Given the description of an element on the screen output the (x, y) to click on. 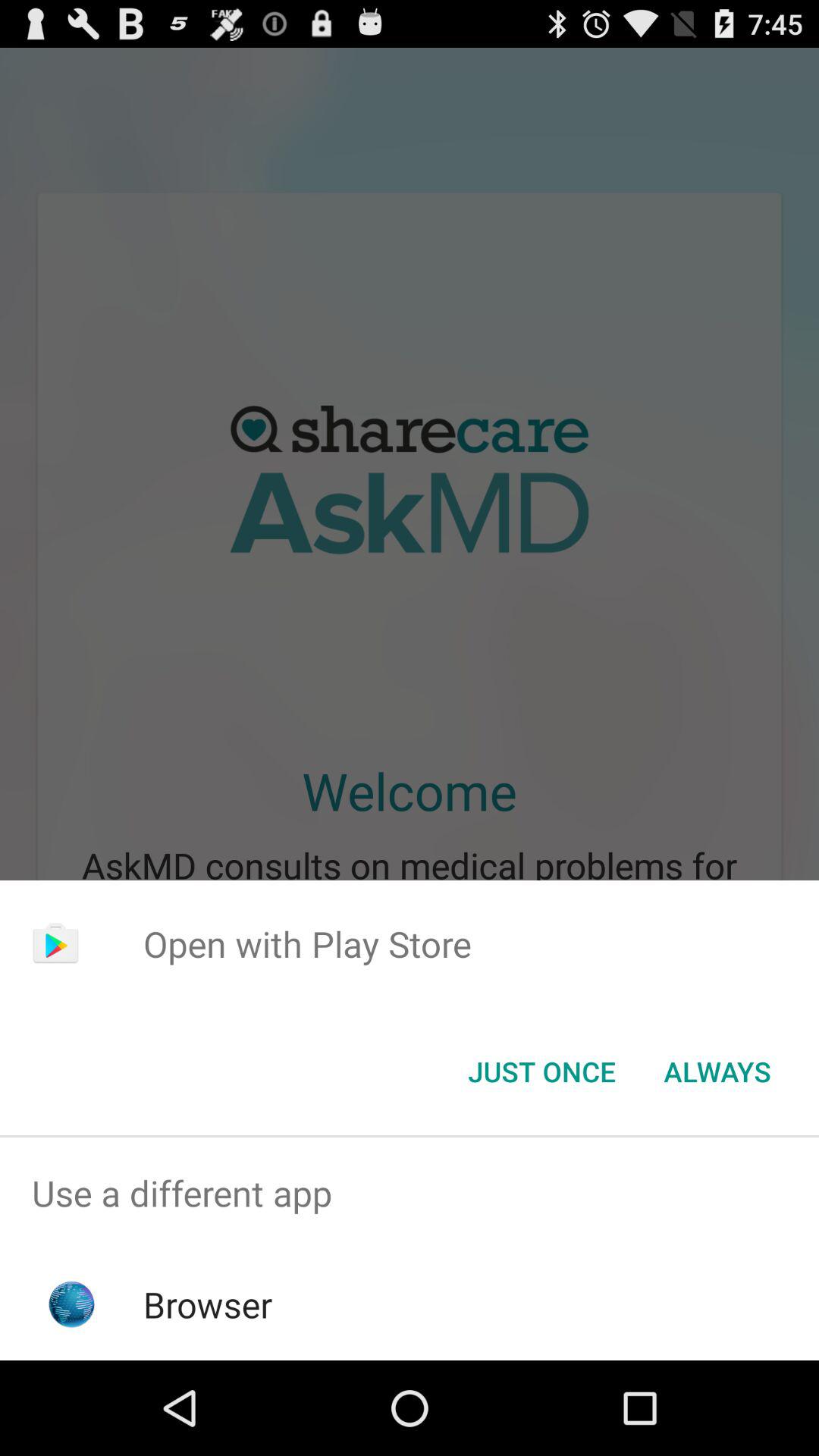
press the just once button (541, 1071)
